Given the description of an element on the screen output the (x, y) to click on. 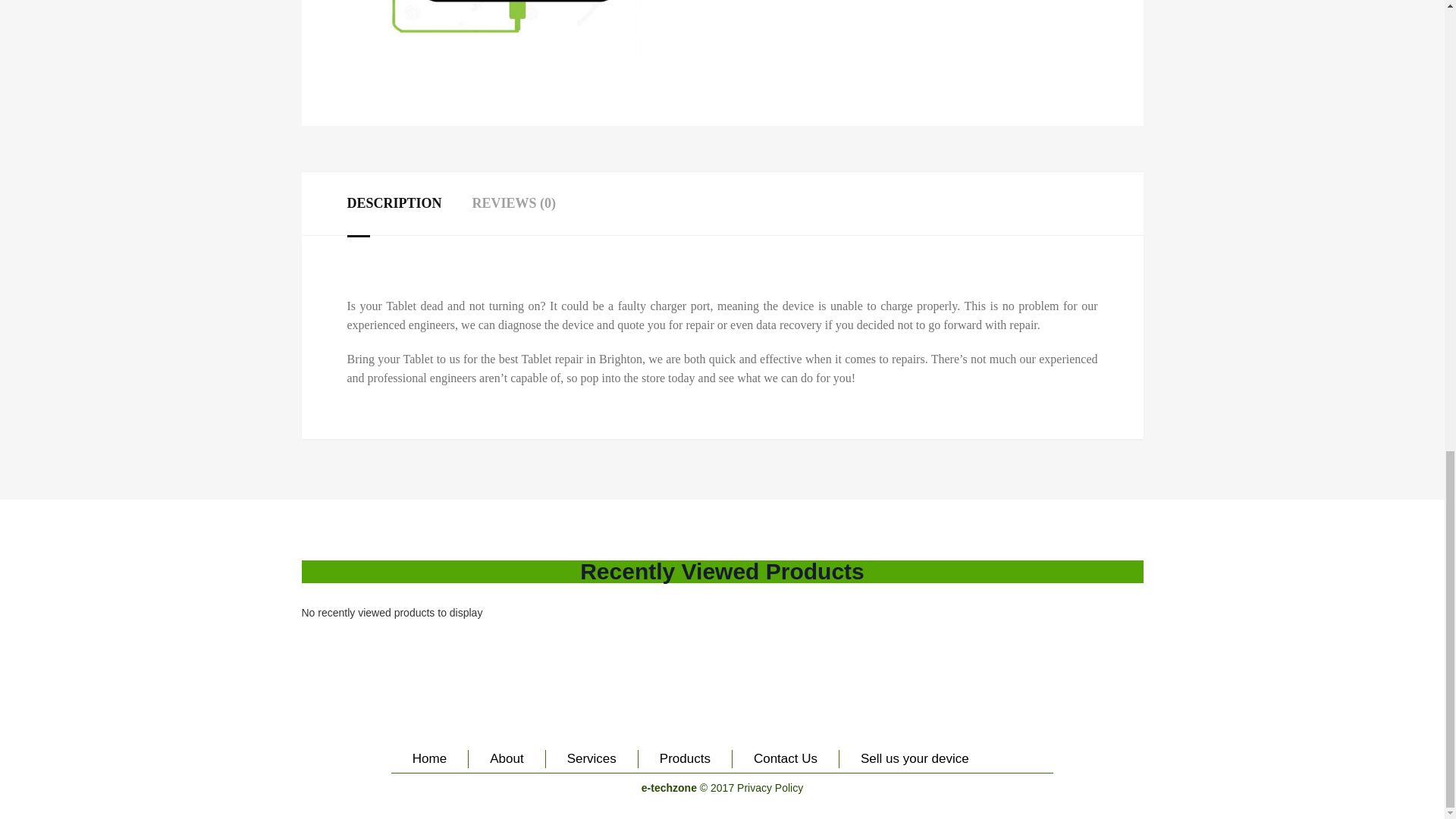
DESCRIPTION (394, 202)
